Given the description of an element on the screen output the (x, y) to click on. 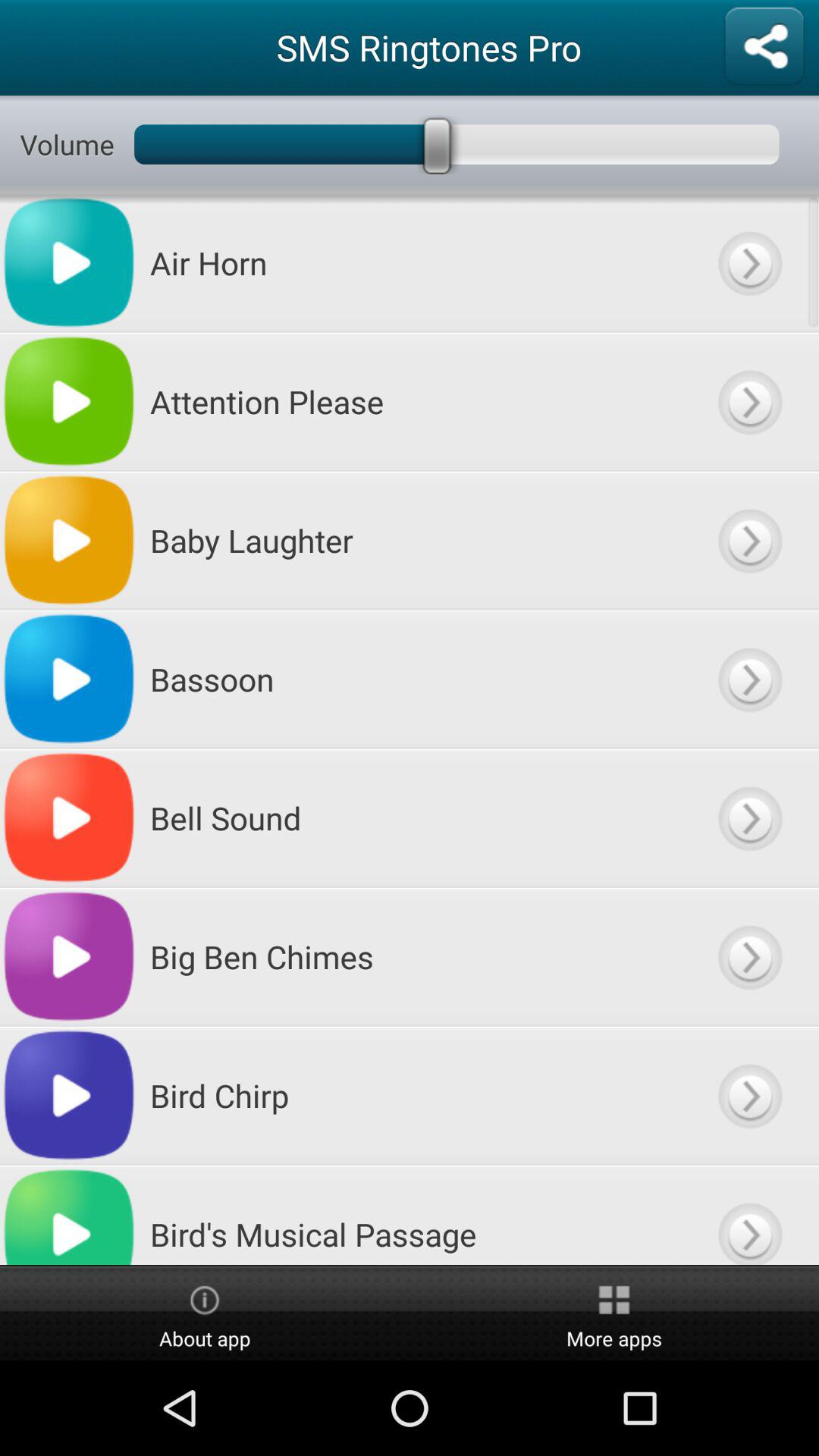
open item (749, 540)
